Given the description of an element on the screen output the (x, y) to click on. 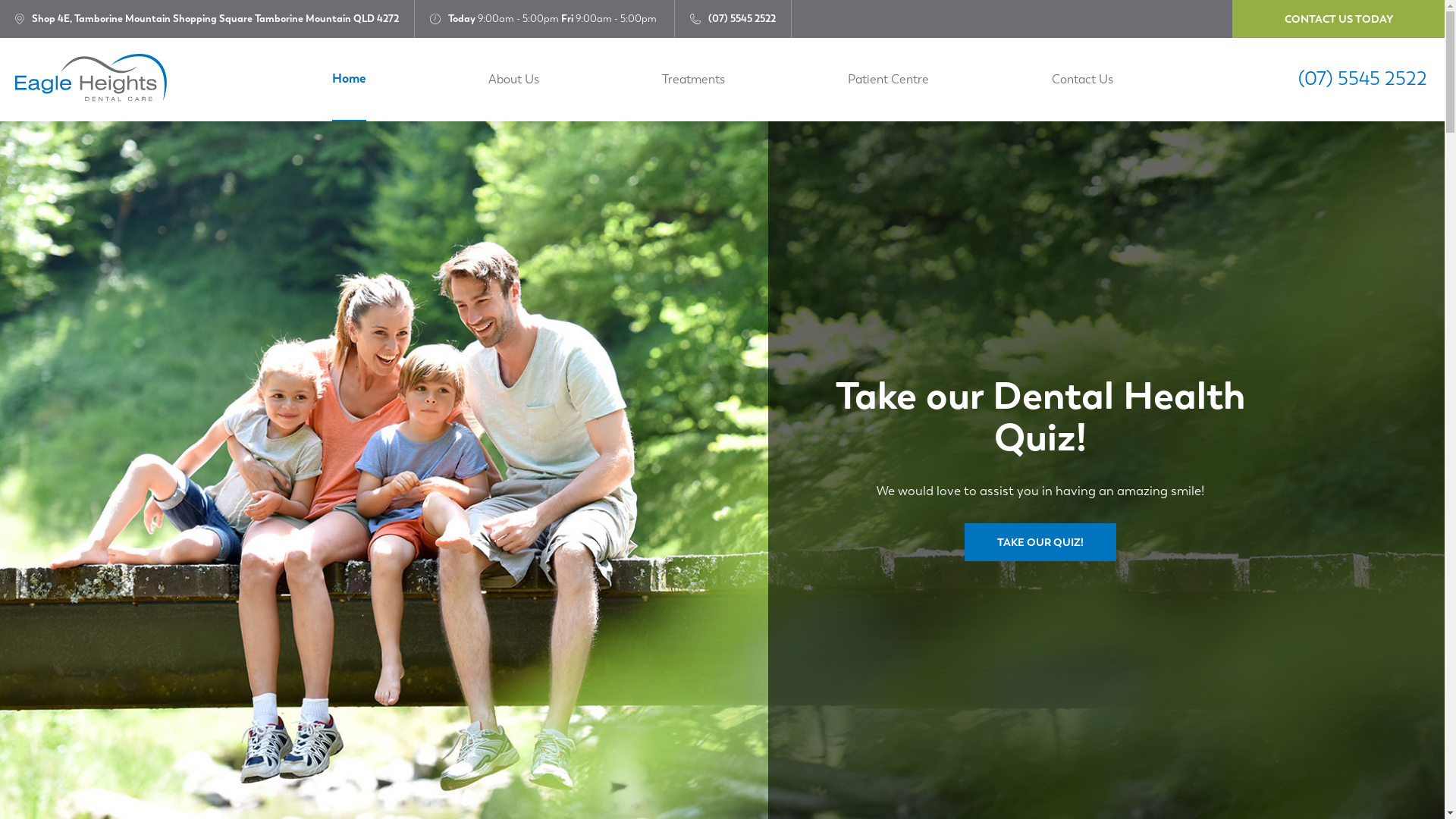
CONTACT US TODAY Element type: text (1338, 18)
TAKE OUR QUIZ! Element type: text (1040, 542)
Treatments Element type: text (693, 79)
Eagle Heights Dental Care Element type: text (90, 79)
About Us Element type: text (513, 79)
(07) 5545 2522 Element type: text (741, 18)
Contact Us Element type: text (1081, 79)
(07) 5545 2522 Element type: text (1362, 80)
Home Element type: text (349, 79)
Today 9:00am - 5:00pm 
Fri 9:00am - 5:00pm  Element type: text (543, 18)
Patient Centre Element type: text (887, 79)
